Given the description of an element on the screen output the (x, y) to click on. 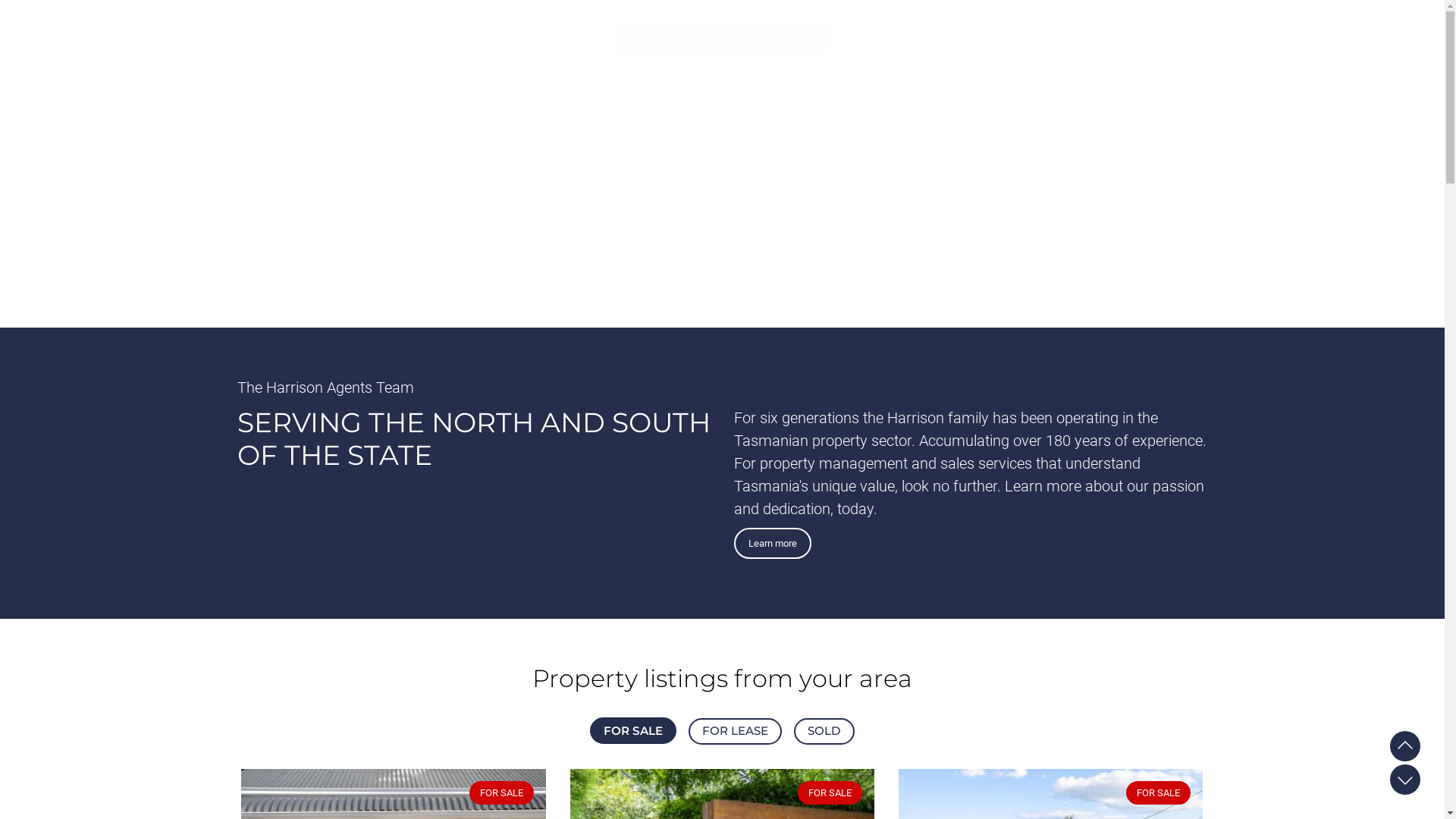
Buy Page Element type: hover (1405, 746)
SOLD Element type: text (823, 731)
FOR SALE Element type: text (632, 730)
Learn more Element type: text (773, 542)
Search Element type: text (953, 122)
Lease Page Element type: hover (1405, 779)
FOR LEASE Element type: text (734, 731)
